Given the description of an element on the screen output the (x, y) to click on. 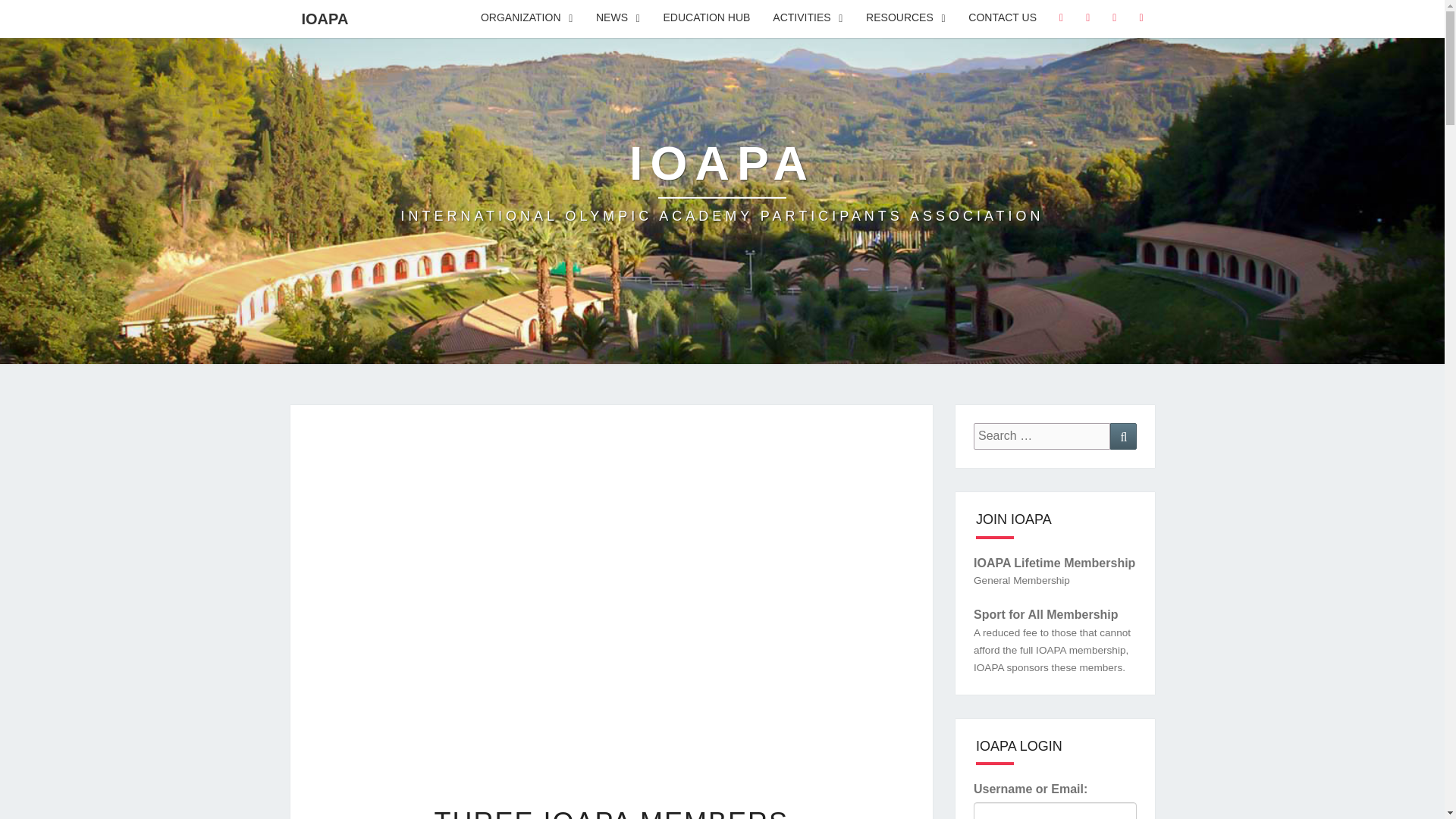
Search for: (1041, 436)
RESOURCES (905, 18)
ACTIVITIES (807, 18)
CONTACT US (1002, 18)
ORGANIZATION (526, 18)
EDUCATION HUB (721, 181)
Username (706, 18)
IOAPA (1055, 810)
IOAPA (721, 181)
